Given the description of an element on the screen output the (x, y) to click on. 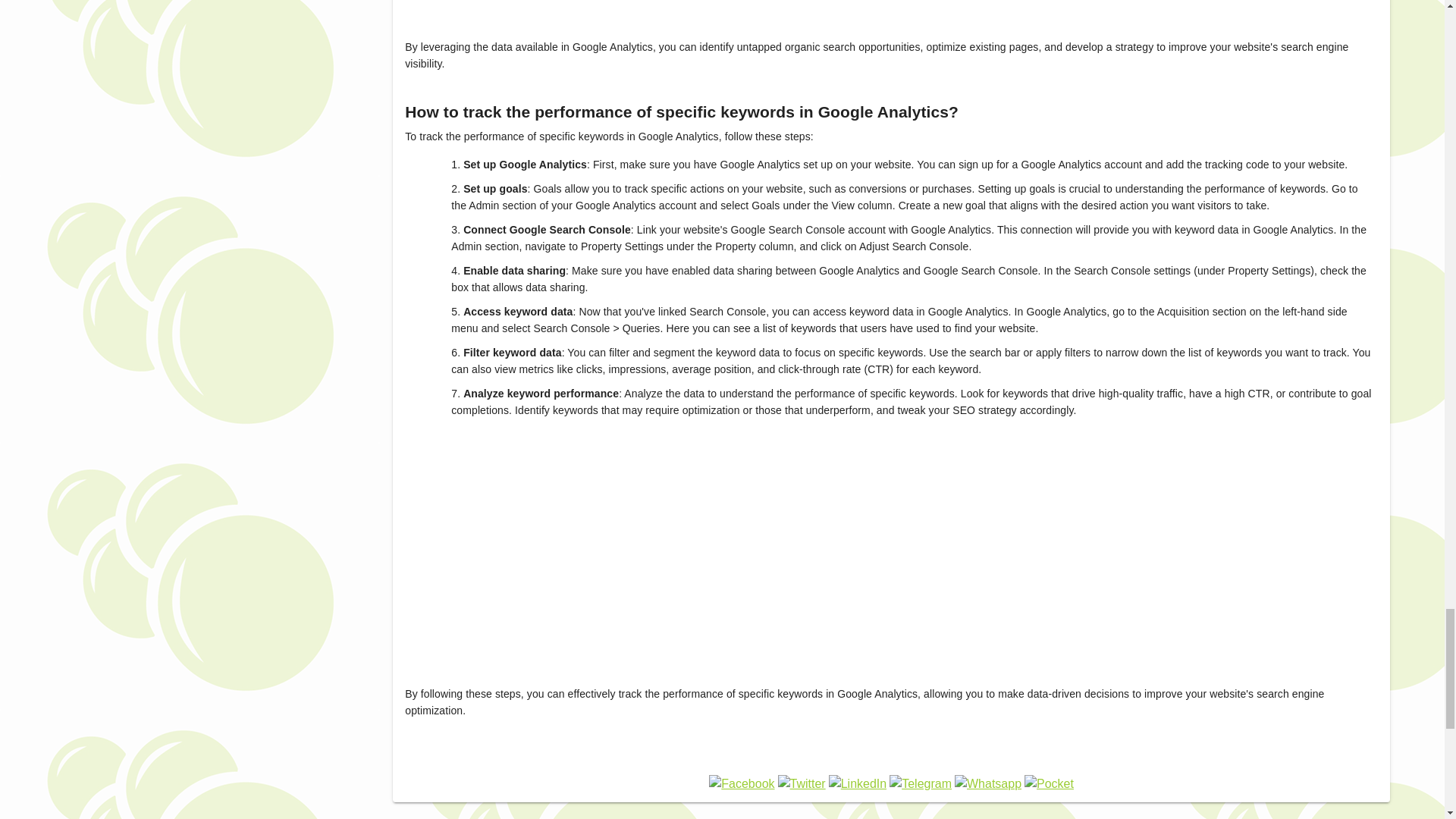
LinkedIn (857, 783)
Telegram (920, 783)
Facebook (741, 783)
Twitter (801, 783)
Pocket (1049, 783)
Whatsapp (988, 783)
